Given the description of an element on the screen output the (x, y) to click on. 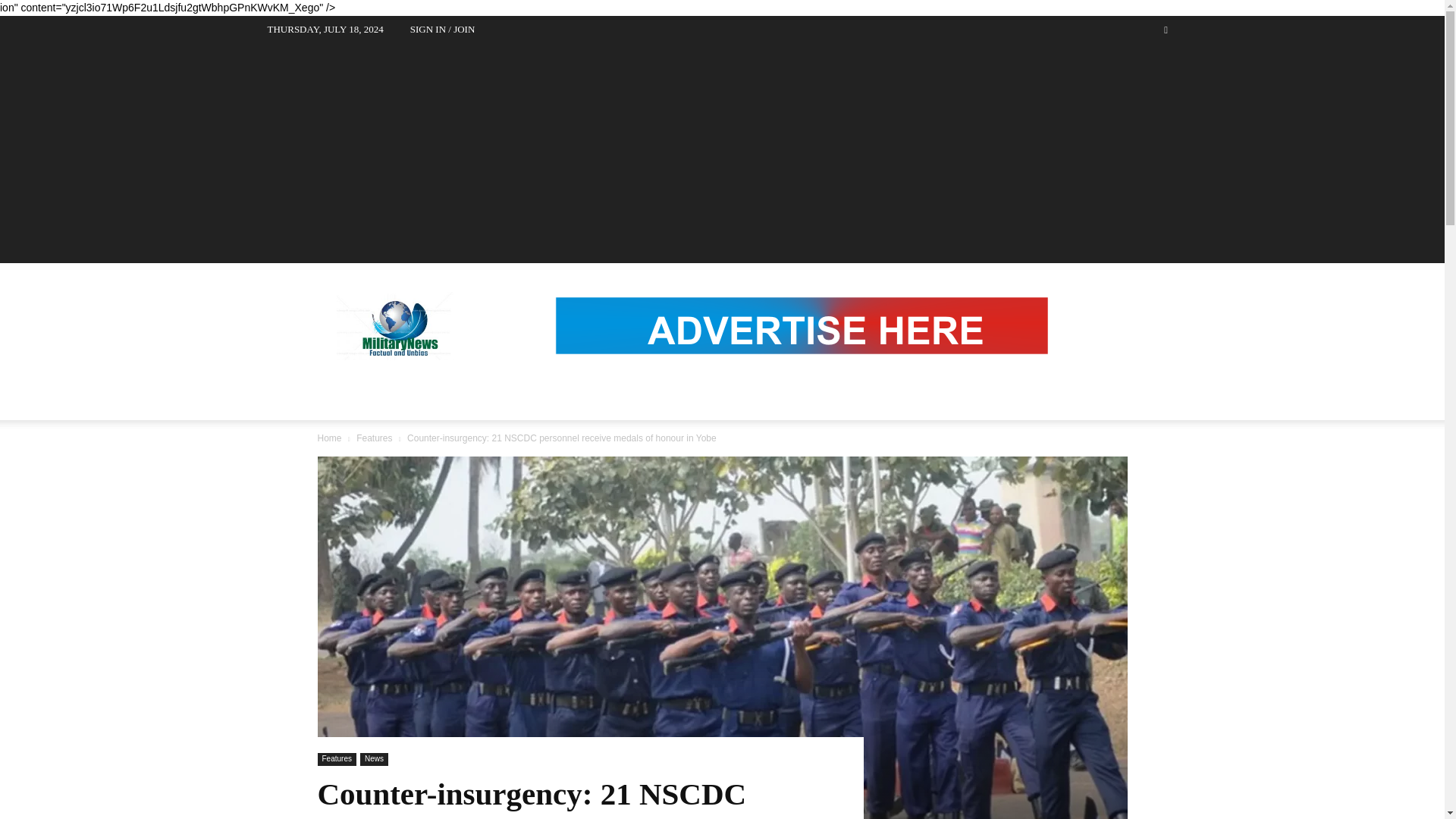
OPINION (616, 393)
EDITORIAL (698, 393)
HOME (296, 393)
NEWS (355, 393)
FEATURES (426, 393)
Search (1134, 86)
ACQUISITIONS (523, 393)
View all posts in Features (373, 438)
